Given the description of an element on the screen output the (x, y) to click on. 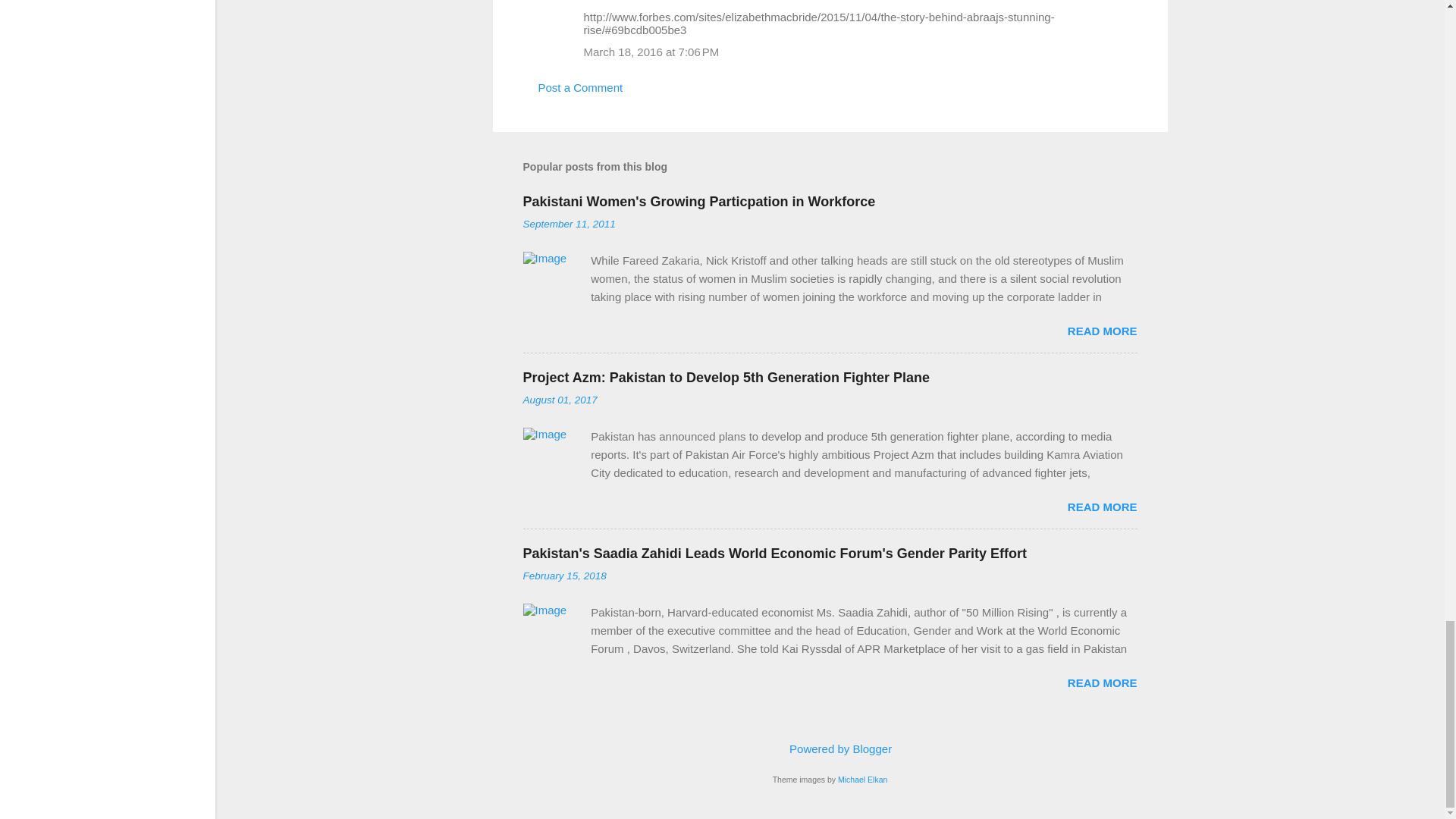
August 01, 2017 (559, 399)
READ MORE (1102, 506)
Pakistani Women's Growing Particpation in Workforce (699, 201)
September 11, 2011 (568, 224)
READ MORE (1102, 330)
February 15, 2018 (564, 575)
Post a Comment (580, 87)
